Given the description of an element on the screen output the (x, y) to click on. 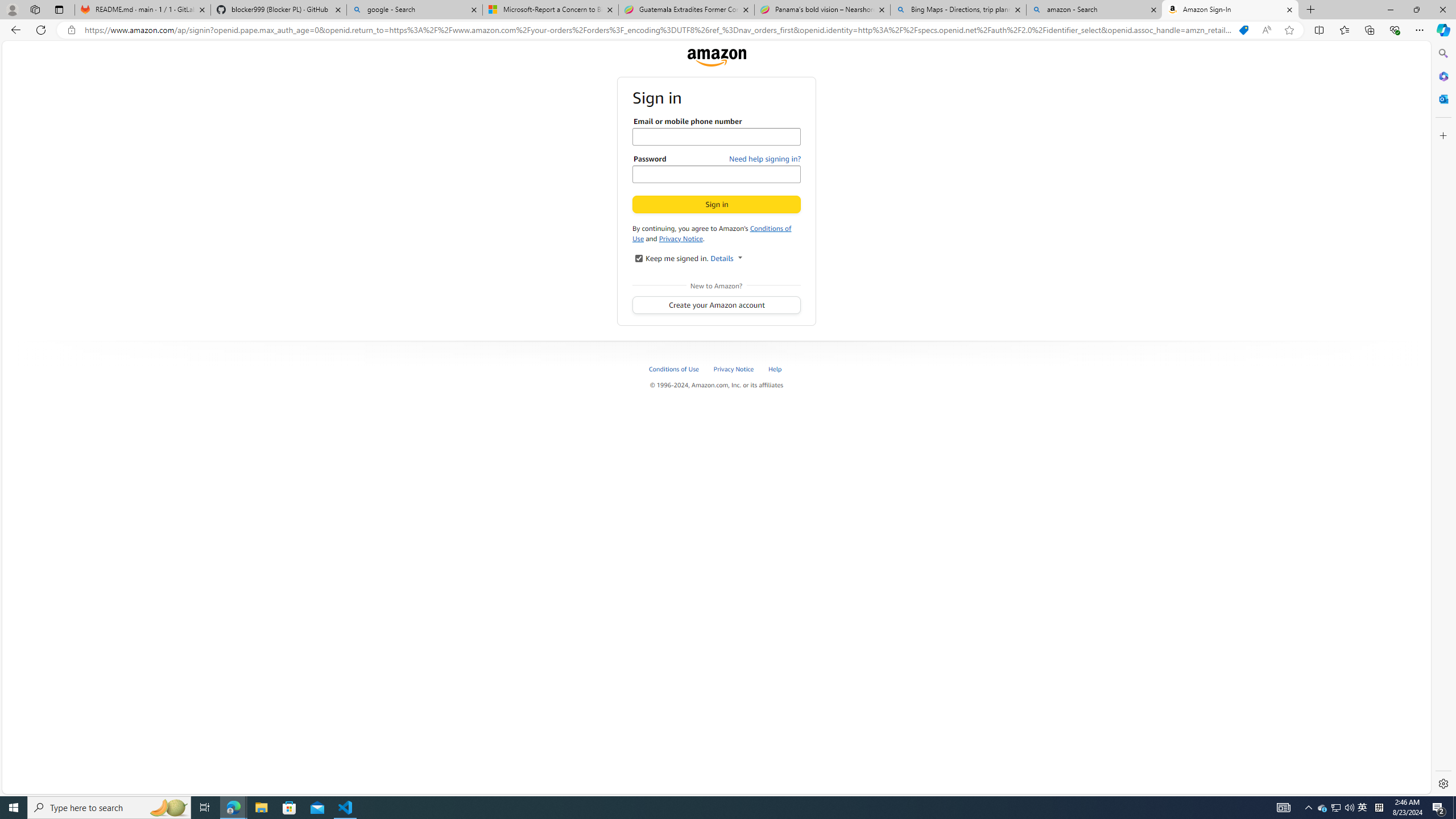
Password (715, 173)
Conditions of Use  (679, 368)
Help  (780, 368)
Conditions of Use (711, 233)
